Given the description of an element on the screen output the (x, y) to click on. 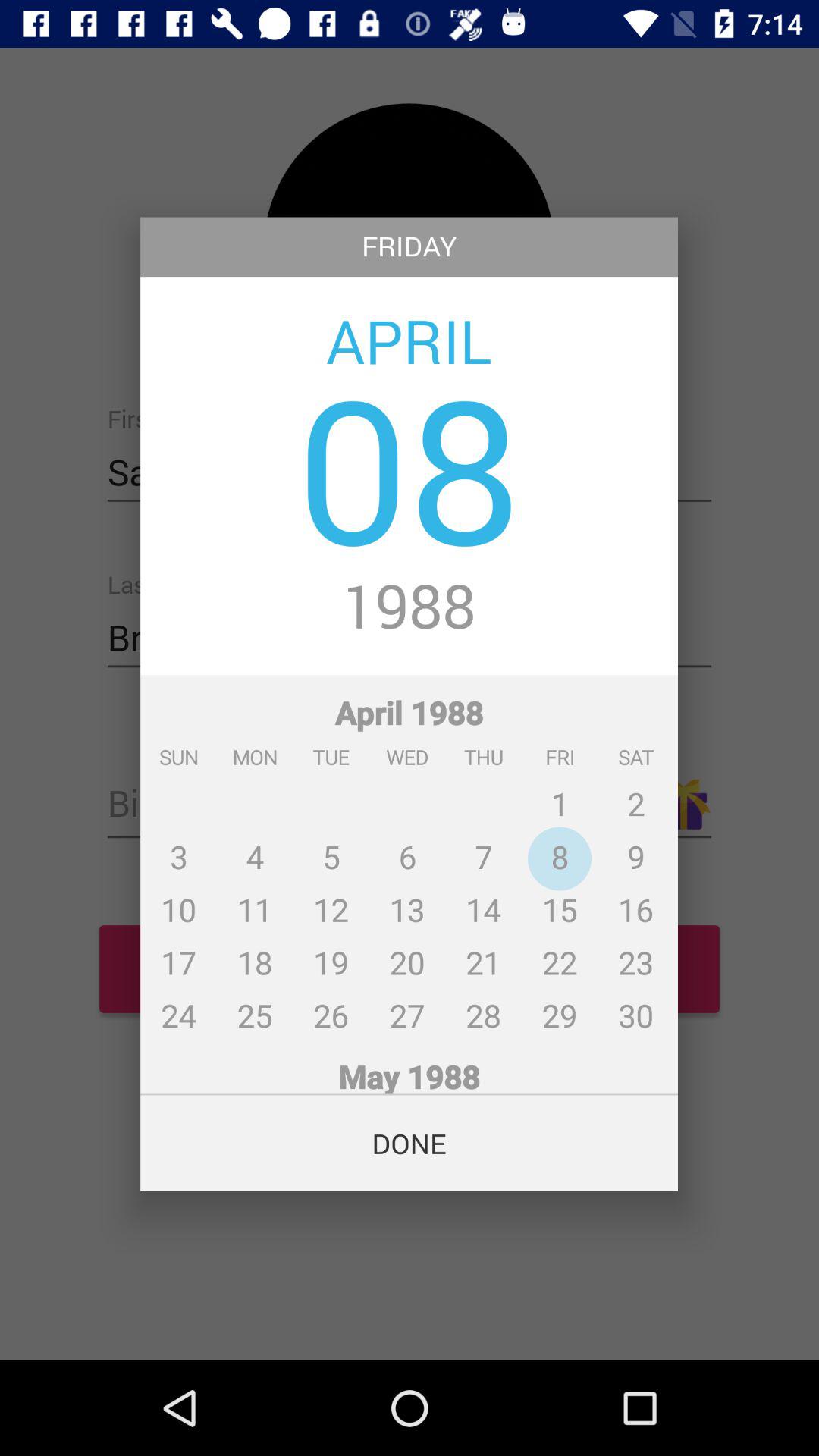
jump to 1988 icon (408, 608)
